Given the description of an element on the screen output the (x, y) to click on. 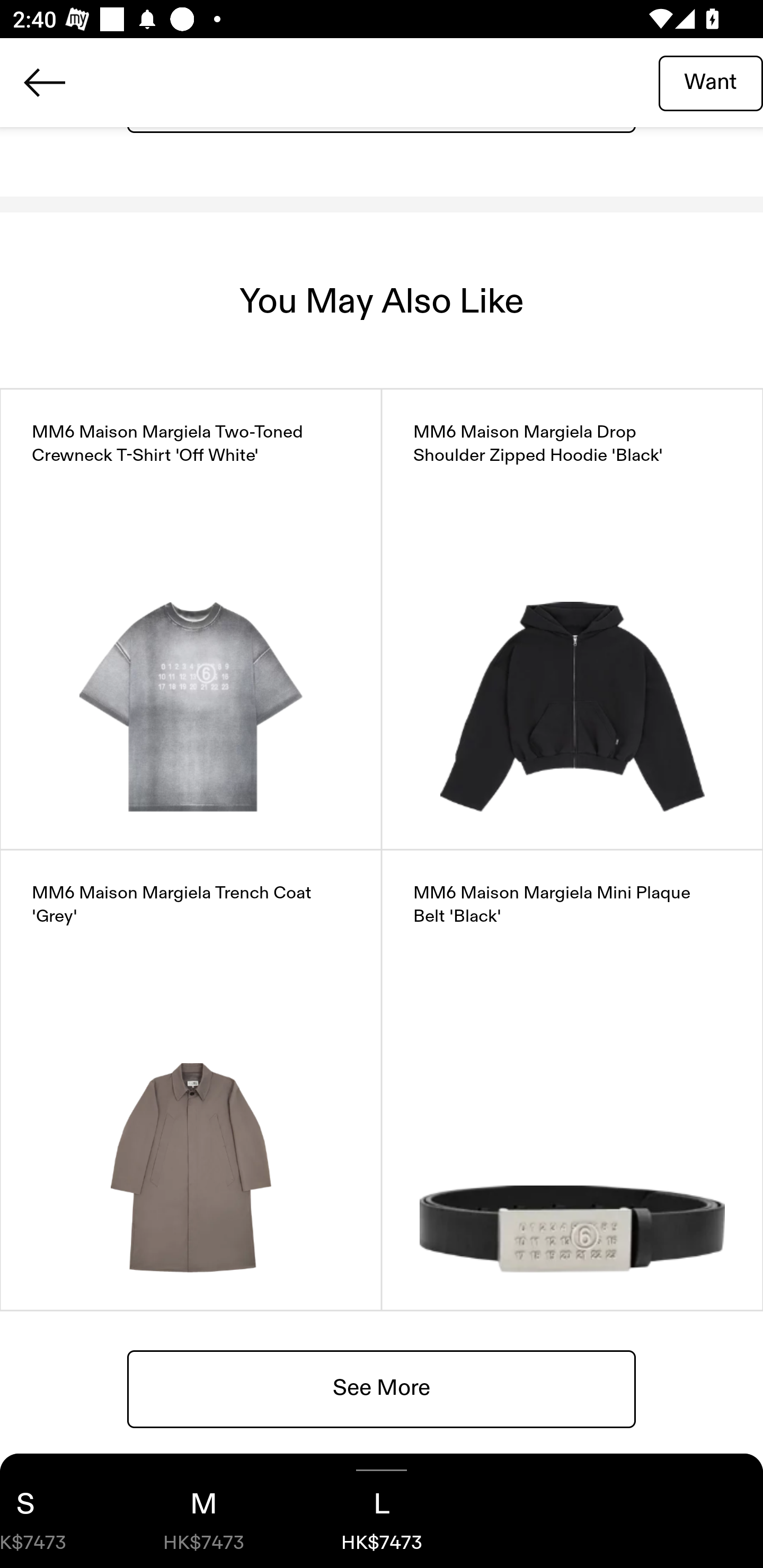
Want (710, 82)
MM6 Maison Margiela Trench Coat 'Grey' (190, 1079)
MM6 Maison Margiela Mini Plaque Belt 'Black' (572, 1079)
See More (381, 1388)
S HK$7473 (57, 1510)
M HK$7473 (203, 1510)
L HK$7473 (381, 1510)
